Given the description of an element on the screen output the (x, y) to click on. 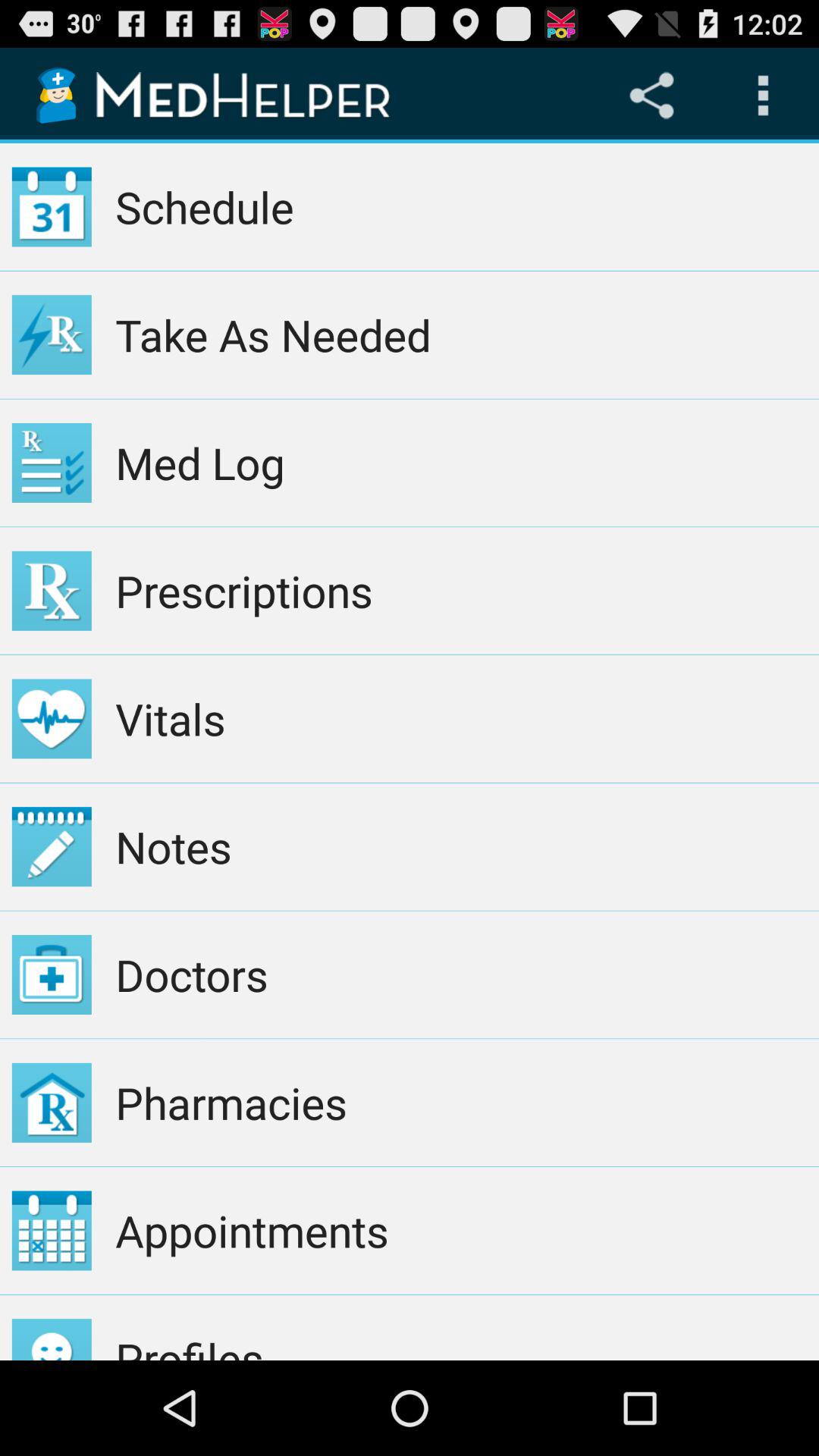
turn off app above the vitals item (461, 590)
